Given the description of an element on the screen output the (x, y) to click on. 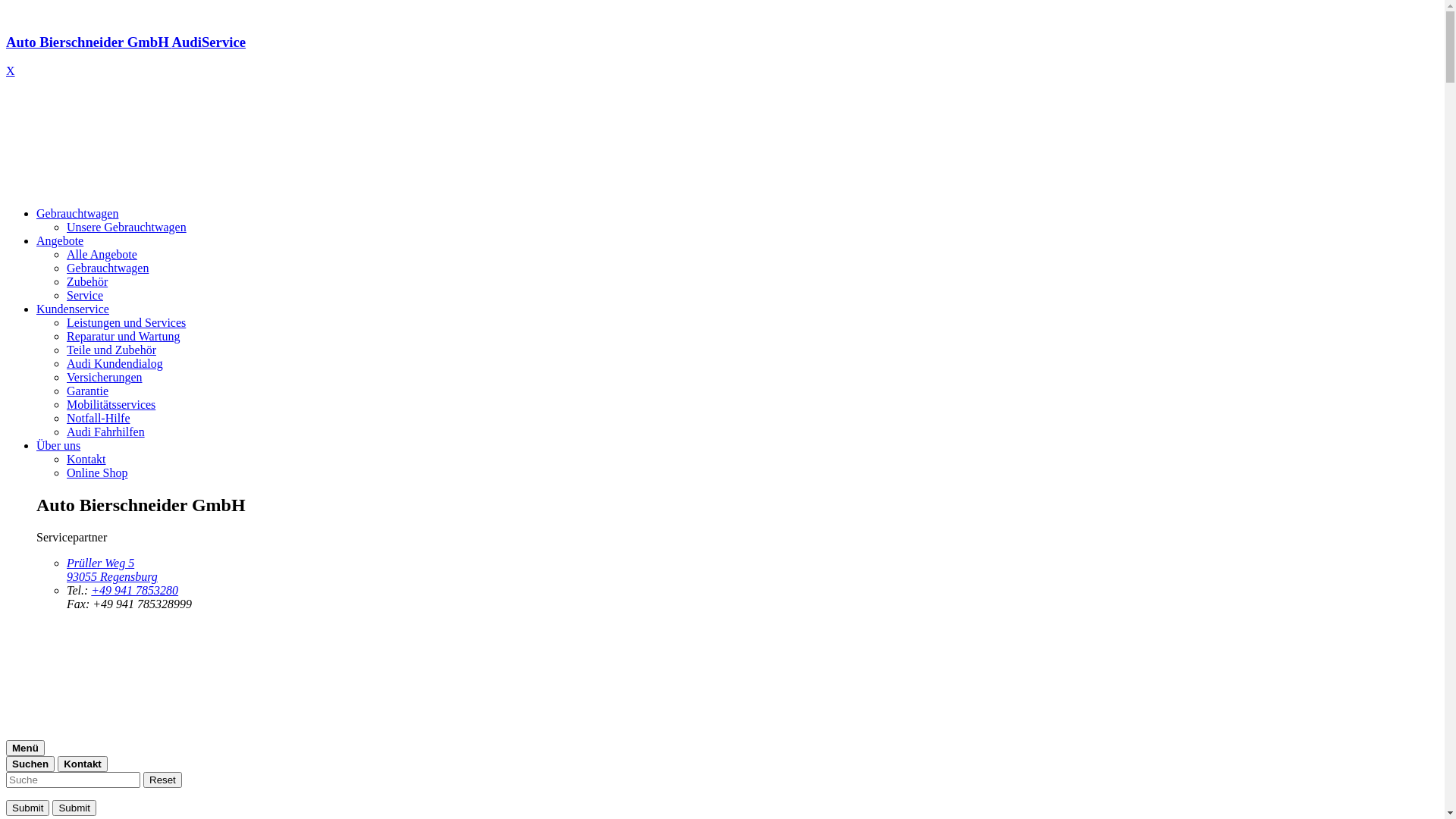
Kontakt Element type: text (86, 458)
Suchen Element type: text (30, 763)
X Element type: text (10, 70)
Leistungen und Services Element type: text (125, 322)
Alle Angebote Element type: text (101, 253)
Angebote Element type: text (59, 240)
Reparatur und Wartung Element type: text (122, 335)
Gebrauchtwagen Element type: text (107, 267)
Versicherungen Element type: text (104, 376)
Online Shop Element type: text (96, 472)
Service Element type: text (84, 294)
Notfall-Hilfe Element type: text (98, 417)
Auto Bierschneider GmbH AudiService Element type: text (722, 56)
Garantie Element type: text (87, 390)
Kontakt Element type: text (82, 763)
Kundenservice Element type: text (72, 308)
Audi Kundendialog Element type: text (114, 363)
Gebrauchtwagen Element type: text (77, 213)
Unsere Gebrauchtwagen Element type: text (126, 226)
+49 941 7853280 Element type: text (134, 589)
Audi Fahrhilfen Element type: text (105, 431)
